Given the description of an element on the screen output the (x, y) to click on. 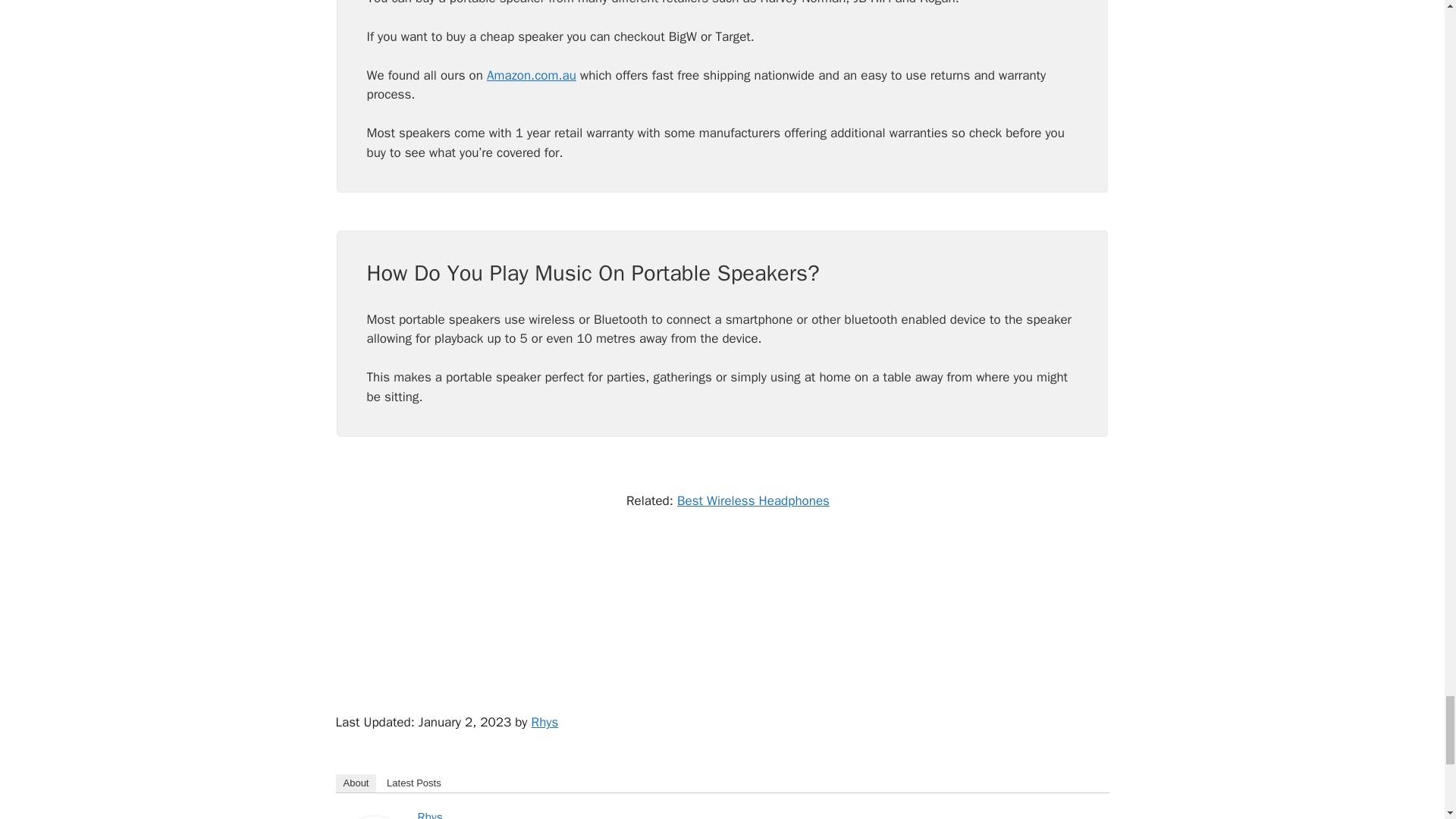
Best Wireless Headphones (753, 500)
Amazon.com.au (531, 75)
Twitter (1090, 815)
